Given the description of an element on the screen output the (x, y) to click on. 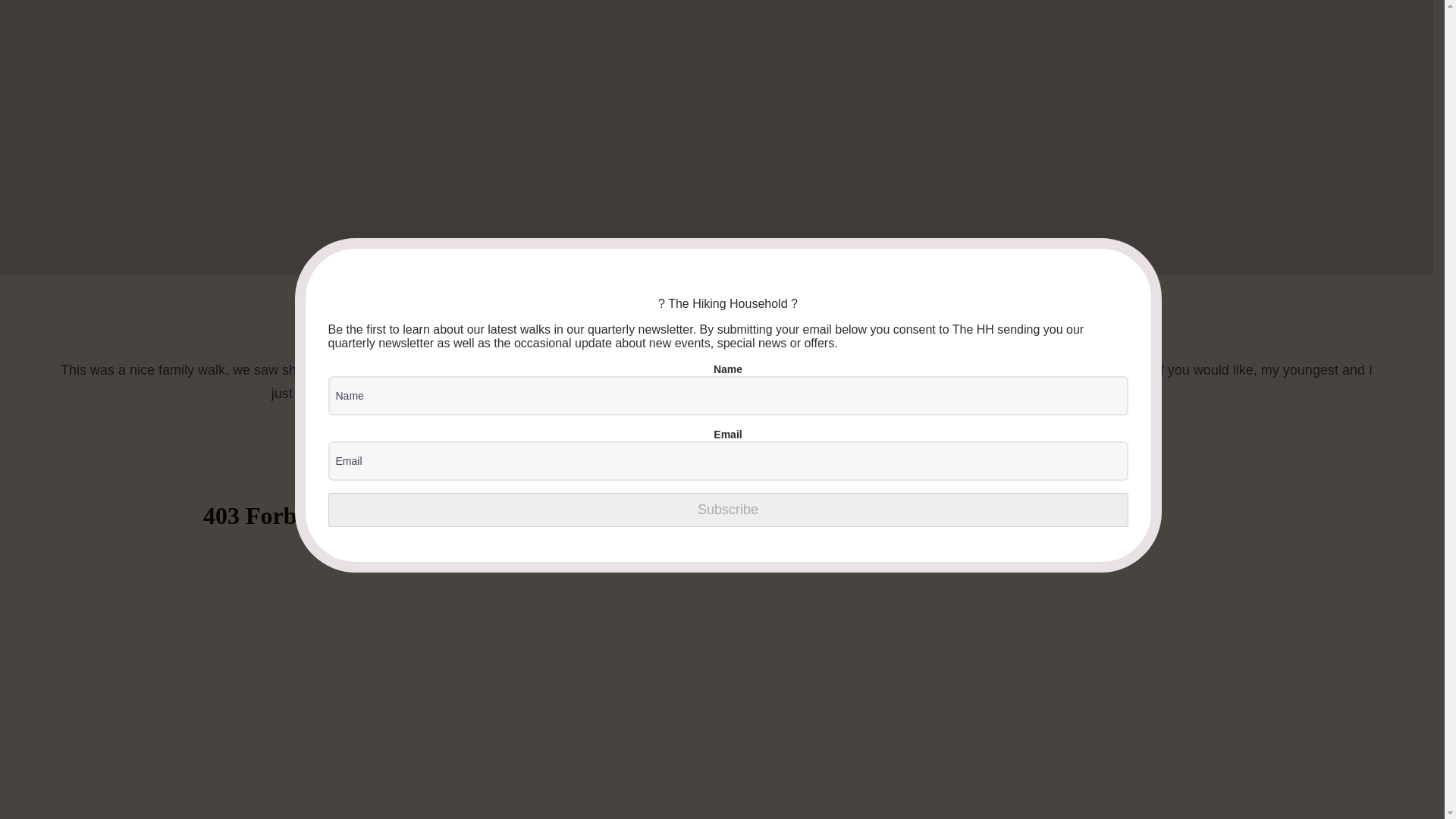
2675BB23-A283-4833-A856-24239C26CF3C (258, 100)
2F28078D-67D7-4DAE-AF7D-CF724E186F1B (1174, 102)
51753924-5CDE-41F4-A70F-916392978659 (715, 101)
